Given the description of an element on the screen output the (x, y) to click on. 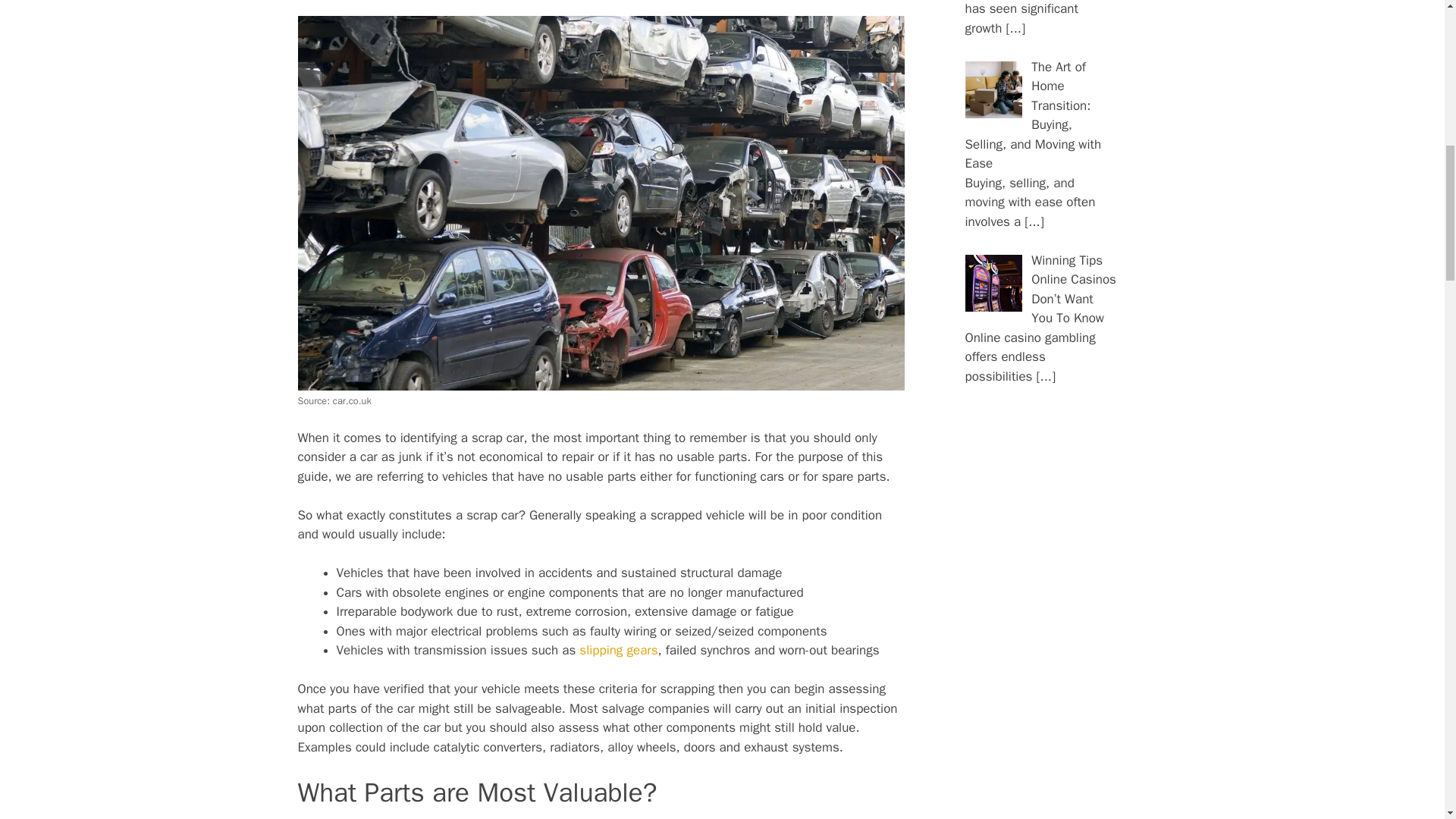
slipping gears (618, 650)
